Given the description of an element on the screen output the (x, y) to click on. 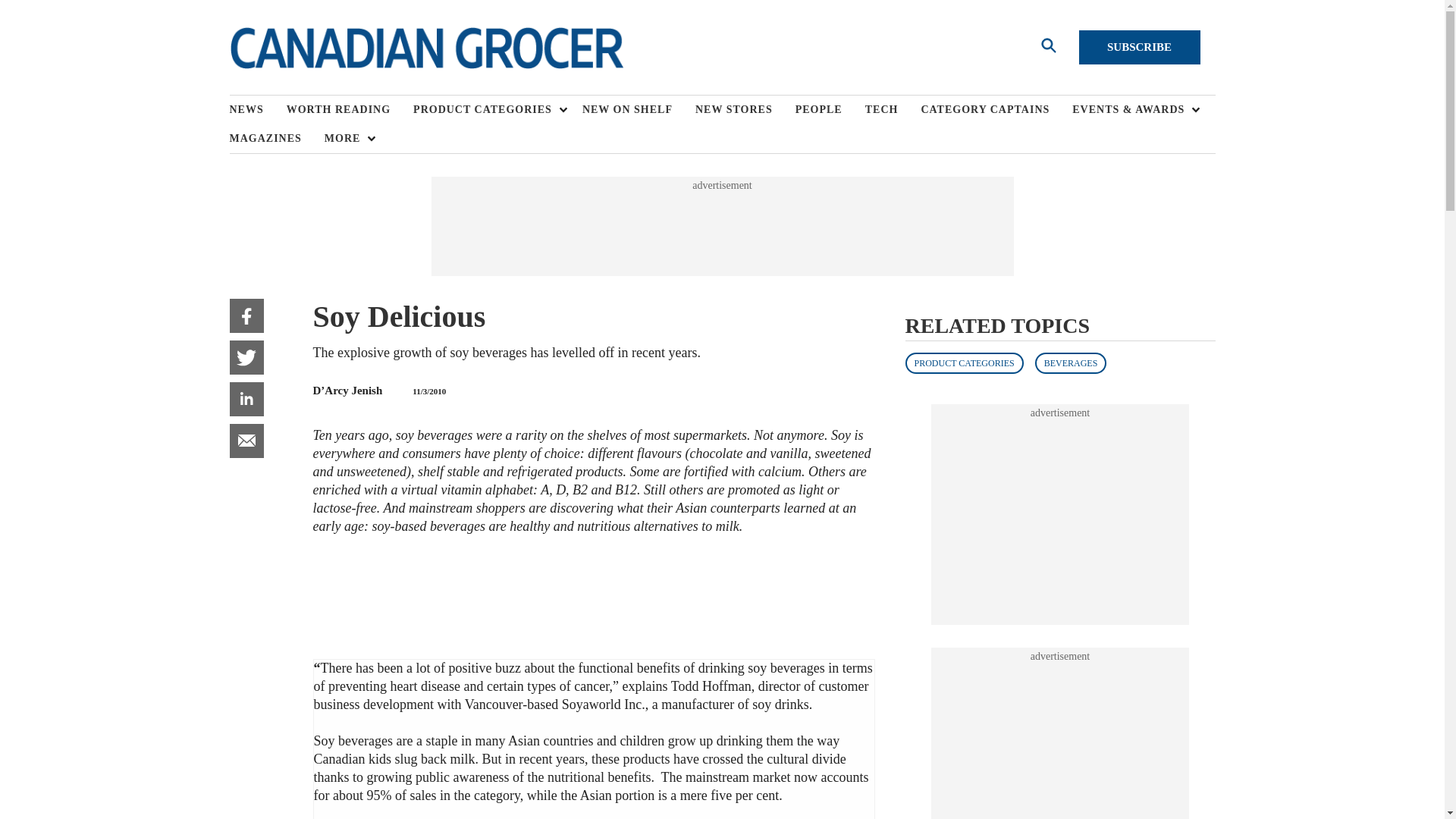
NEW ON SHELF (638, 109)
twitter (245, 357)
3rd party ad content (721, 226)
TECH (892, 109)
PEOPLE (829, 109)
email (245, 440)
WORTH READING (349, 109)
NEW STORES (744, 109)
MORE (346, 138)
3rd party ad content (1059, 741)
